Given the description of an element on the screen output the (x, y) to click on. 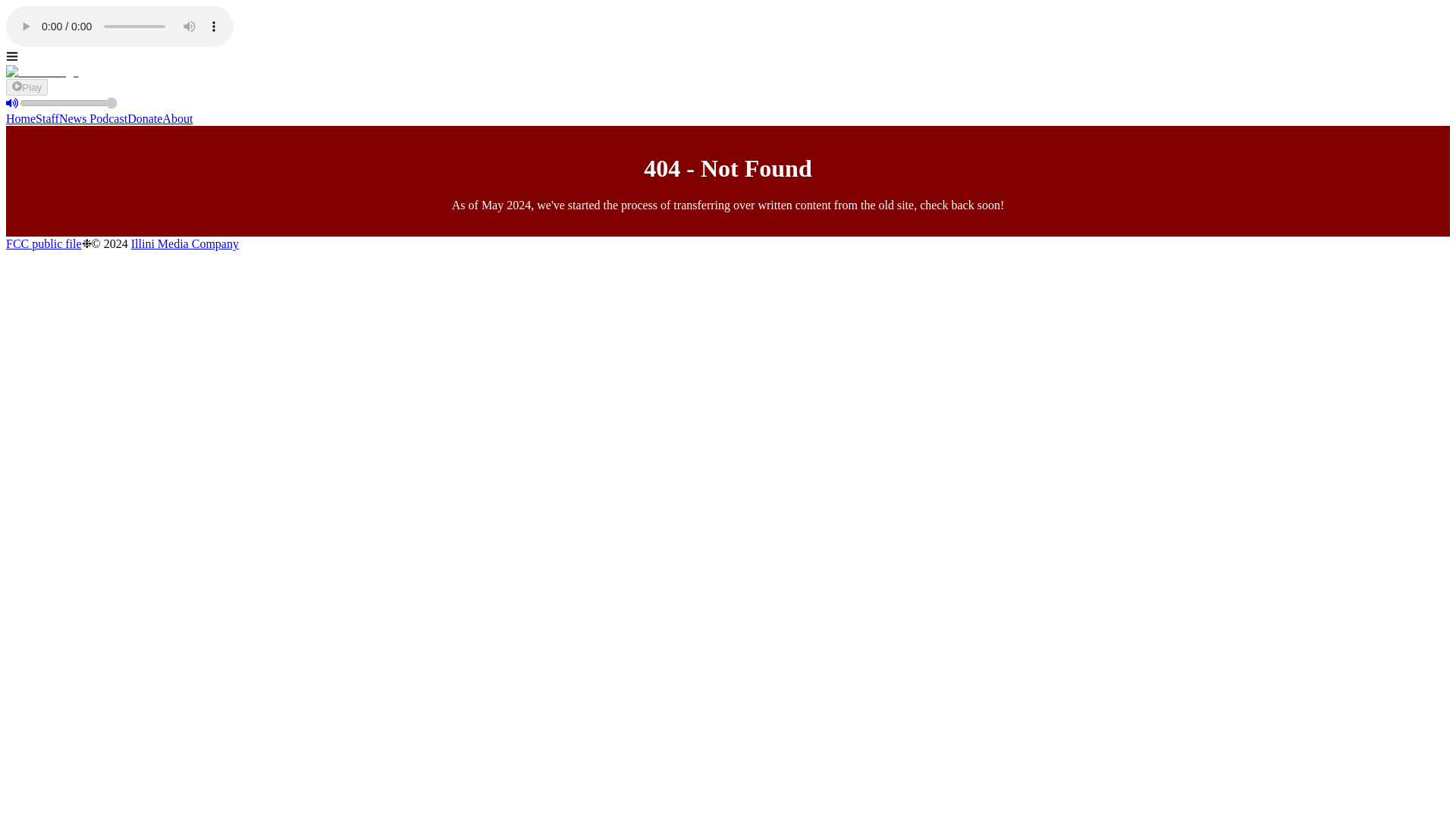
Donate (144, 118)
Staff (46, 118)
About (176, 118)
Play (26, 86)
News Podcast (93, 118)
1 (68, 102)
Home (19, 118)
